Given the description of an element on the screen output the (x, y) to click on. 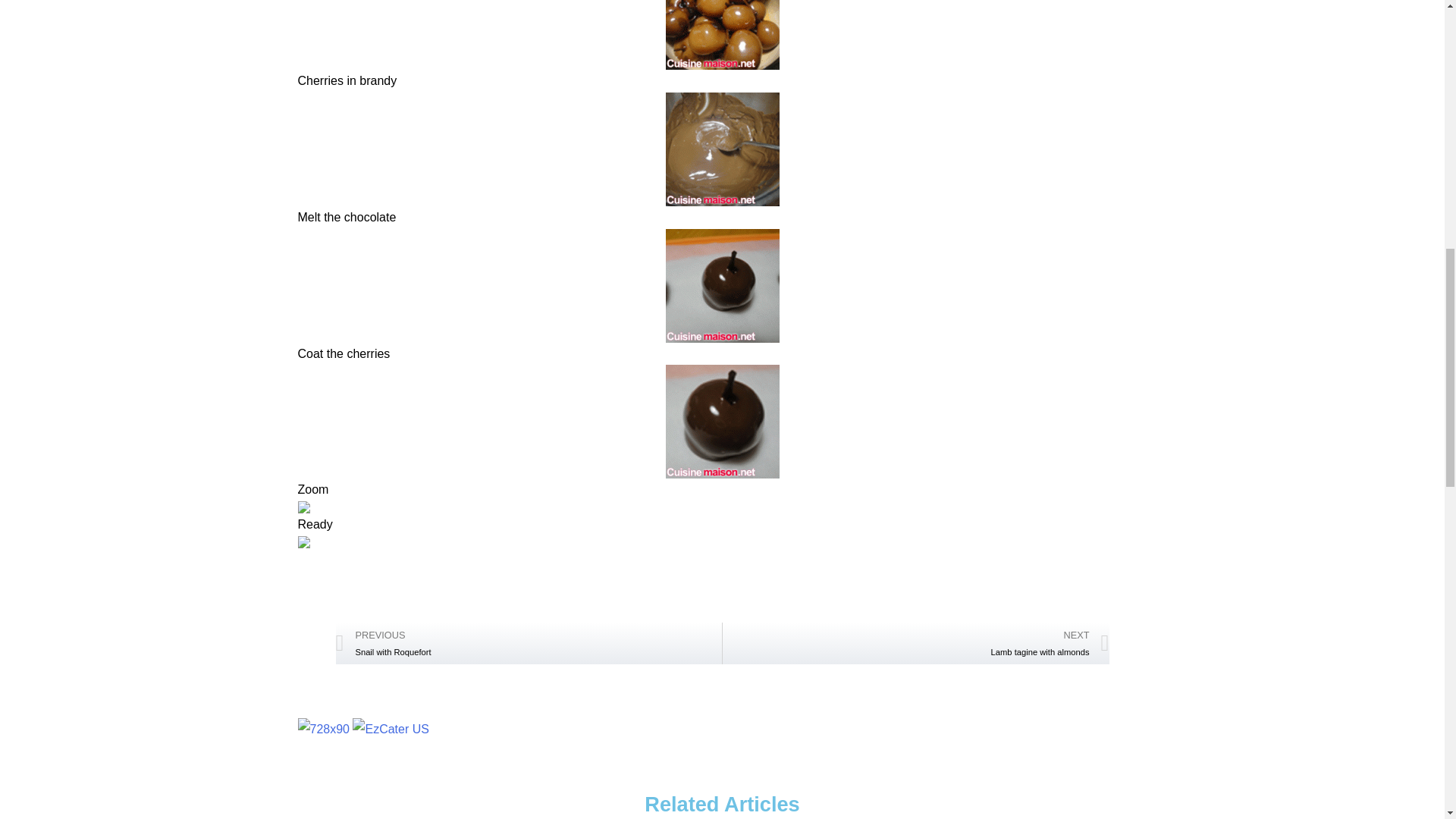
728x90 (323, 729)
